Given the description of an element on the screen output the (x, y) to click on. 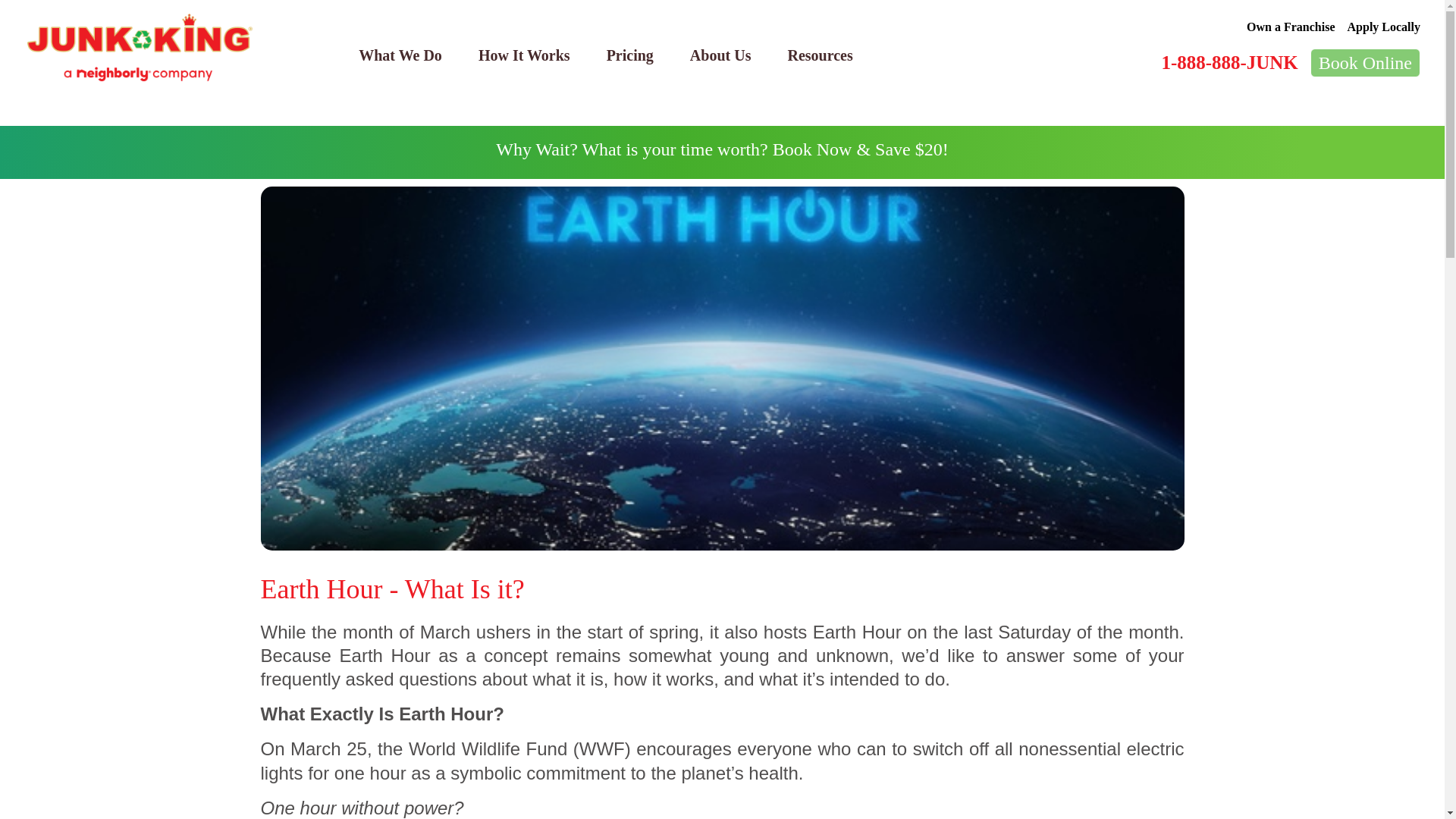
What We Do (400, 54)
Apply Locally (1384, 27)
Junk King (139, 47)
About Us (720, 54)
Pricing (629, 54)
Own a Franchise (1290, 27)
Book Online (1365, 62)
1-888-888-JUNK (1228, 62)
Resources (819, 54)
